Given the description of an element on the screen output the (x, y) to click on. 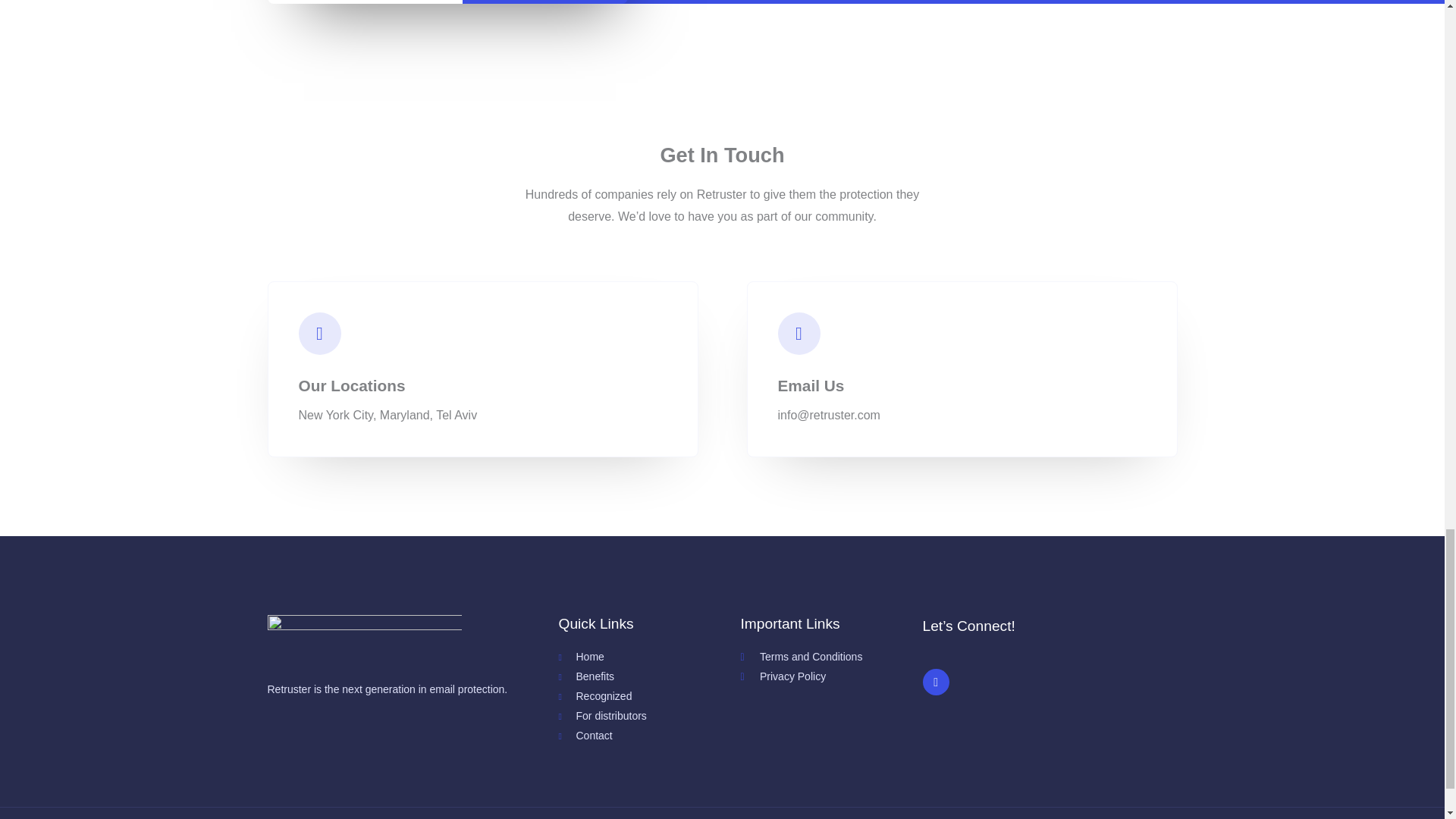
Benefits (648, 677)
Recognized (648, 696)
Terms and Conditions (830, 657)
Privacy Policy (830, 677)
Home (648, 657)
Contact (648, 736)
For distributors (648, 716)
